Given the description of an element on the screen output the (x, y) to click on. 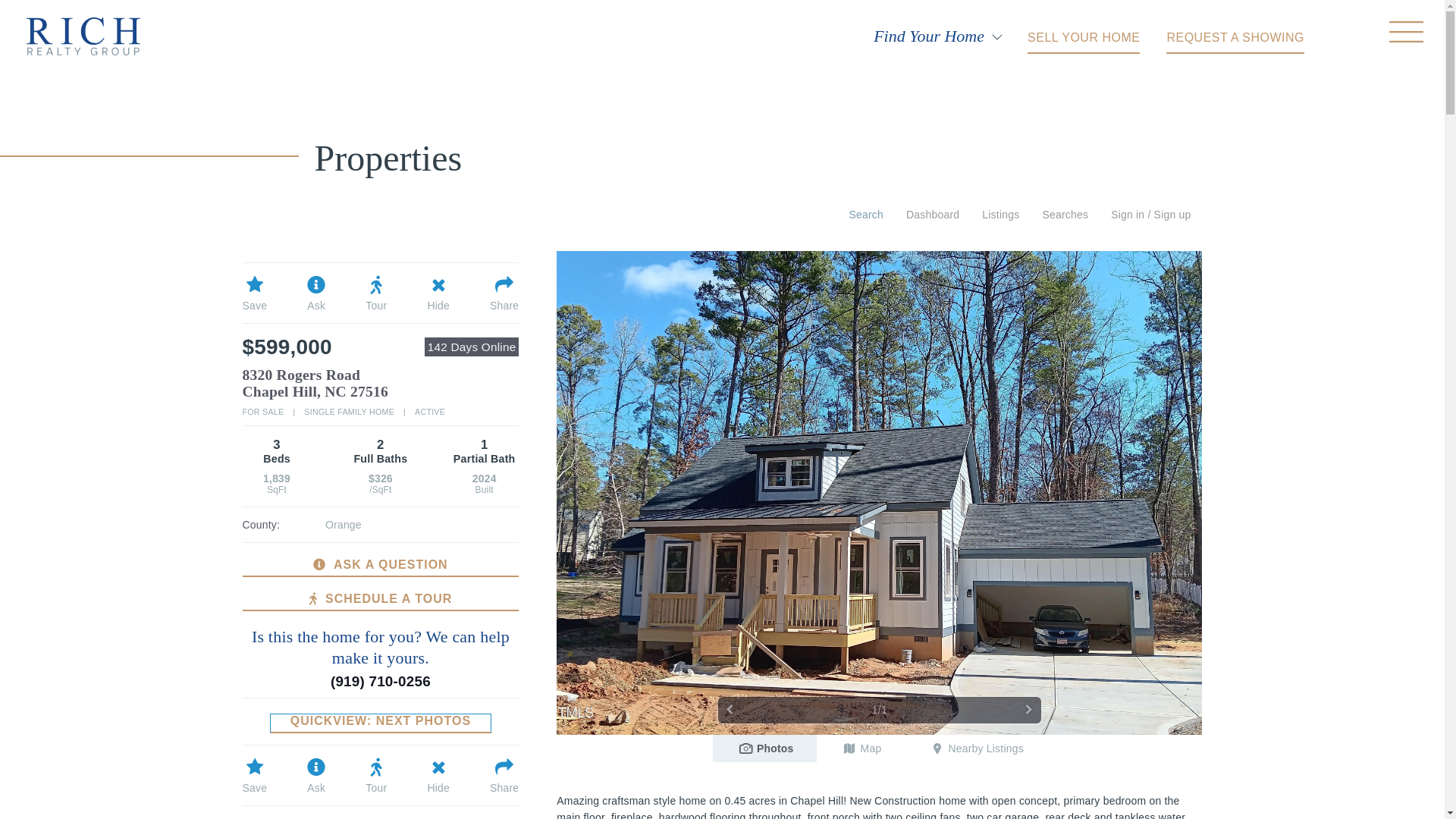
Find Your Home (928, 34)
REQUEST A SHOWING (1087, 34)
SELL YOUR HOME (1235, 35)
Sell Your Home (1083, 35)
Find Your Home (1083, 35)
Request a Showing (928, 34)
